Given the description of an element on the screen output the (x, y) to click on. 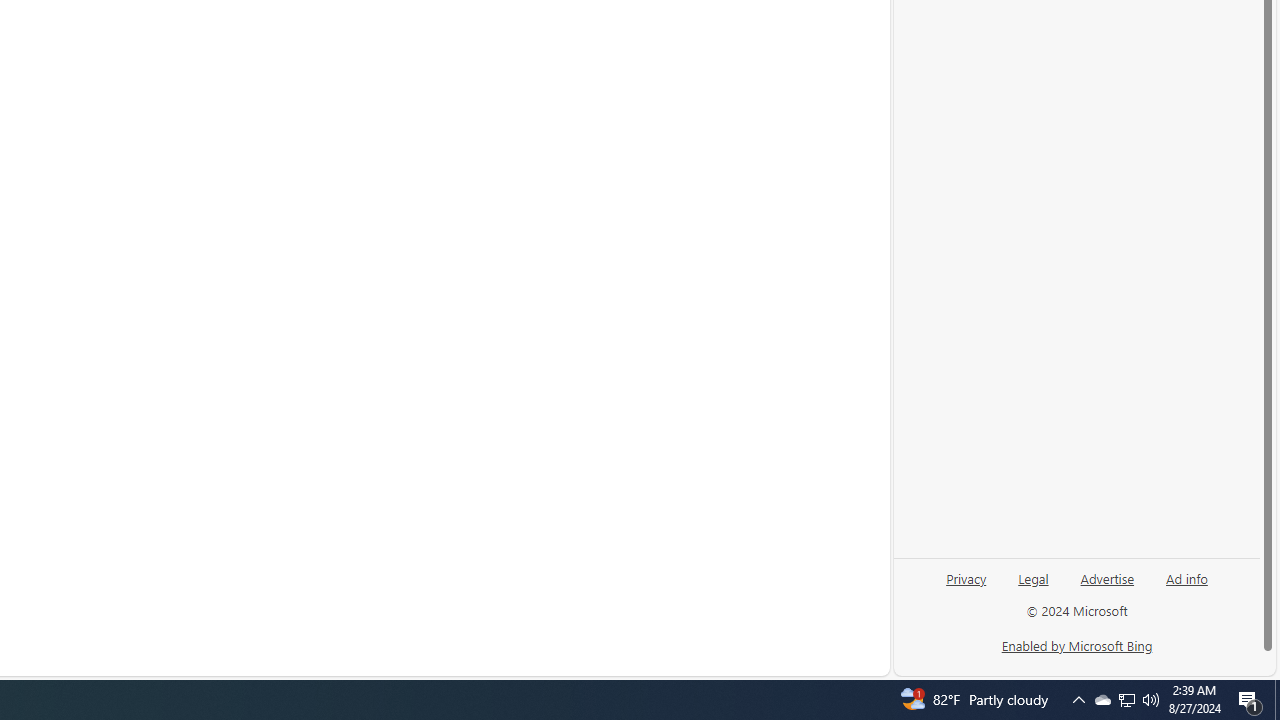
Got It ! (1137, 650)
Cookie Policy (294, 650)
Privacy Policy (387, 650)
